Given the description of an element on the screen output the (x, y) to click on. 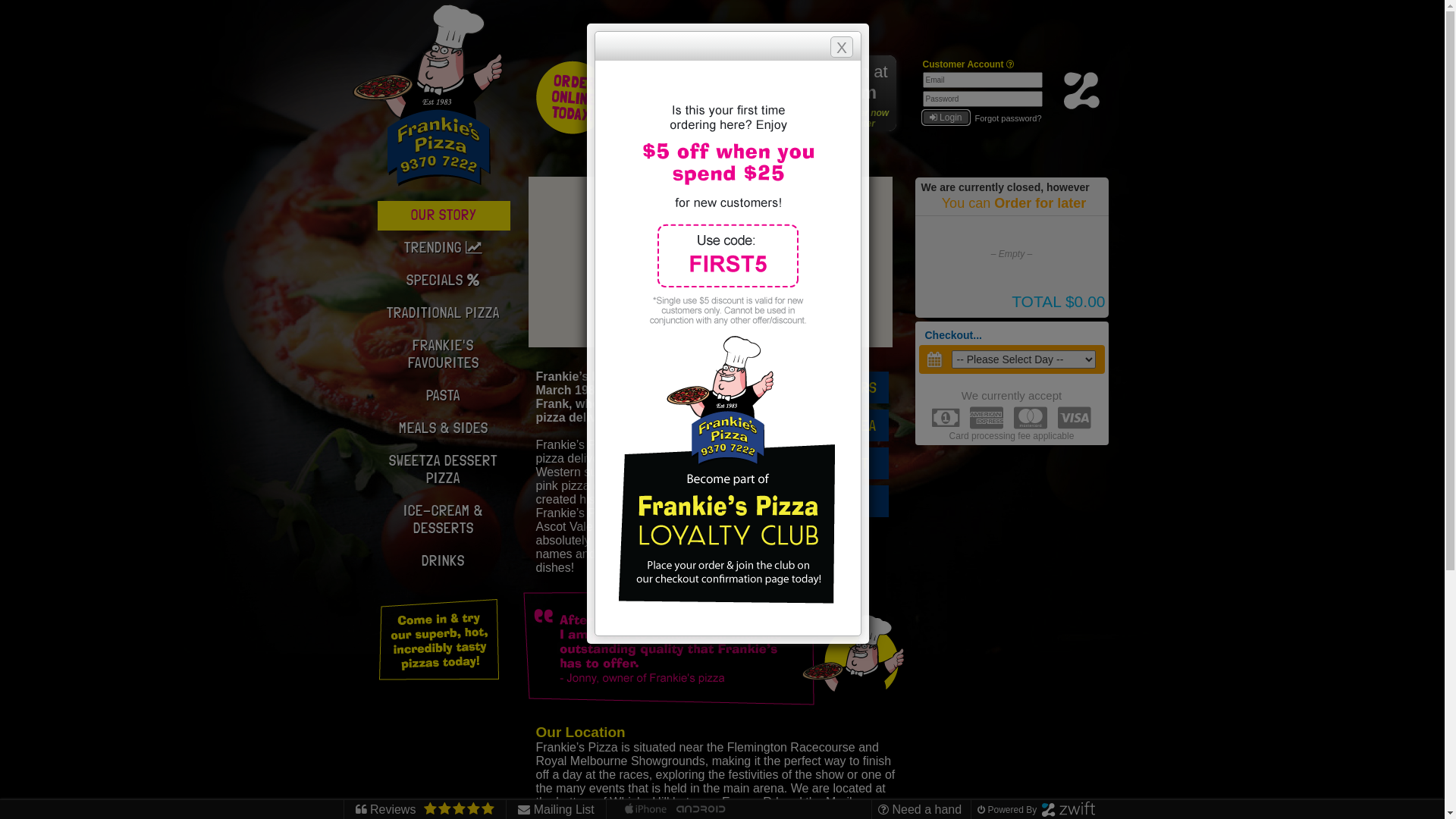
MEALS & SIDES Element type: text (440, 428)
TRADITIONAL PIZZA Element type: text (440, 313)
SWEETZA DESSERT PIZZA Element type: text (440, 469)
FACEBOOK Element type: text (828, 501)
American Express Element type: hover (986, 417)
PASTA Element type: text (440, 396)
TRADING HOURS Element type: text (828, 387)
ICE-CREAM & DESSERTS Element type: text (440, 519)
MAILING LIST Element type: text (828, 463)
FRANKIE'S FAVOURITES Element type: text (440, 354)
Opening hours Element type: text (762, 124)
DRINKS Element type: text (440, 561)
Visa Element type: hover (1074, 417)
Delivery area Element type: text (763, 102)
Cash Element type: hover (945, 417)
OUR STORY Element type: text (443, 215)
Login Element type: text (945, 117)
DELIVERY AREA Element type: text (828, 425)
Mastercard Element type: hover (1030, 417)
SPECIALS Element type: text (440, 280)
TRENDING Element type: text (440, 248)
Powered By Element type: text (1034, 809)
